Given the description of an element on the screen output the (x, y) to click on. 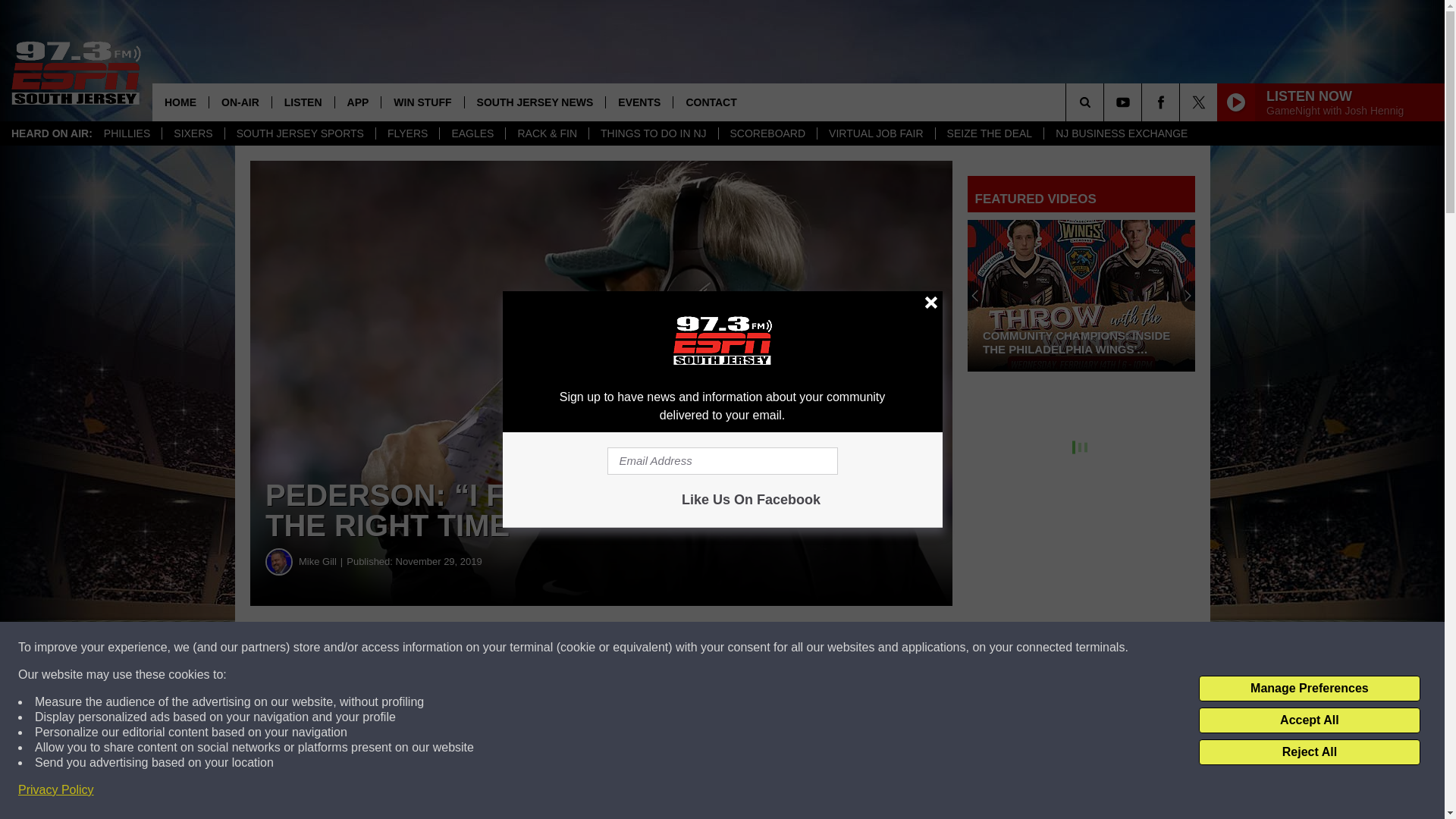
SCOREBOARD (766, 133)
PHILLIES (127, 133)
SOUTH JERSEY SPORTS (299, 133)
Share on Facebook (460, 647)
Email Address (722, 461)
THINGS TO DO IN NJ (652, 133)
Manage Preferences (1309, 688)
SEARCH (1106, 102)
Accept All (1309, 720)
EAGLES (472, 133)
LISTEN (302, 102)
FLYERS (407, 133)
HOME (180, 102)
SIXERS (192, 133)
Reject All (1309, 751)
